Given the description of an element on the screen output the (x, y) to click on. 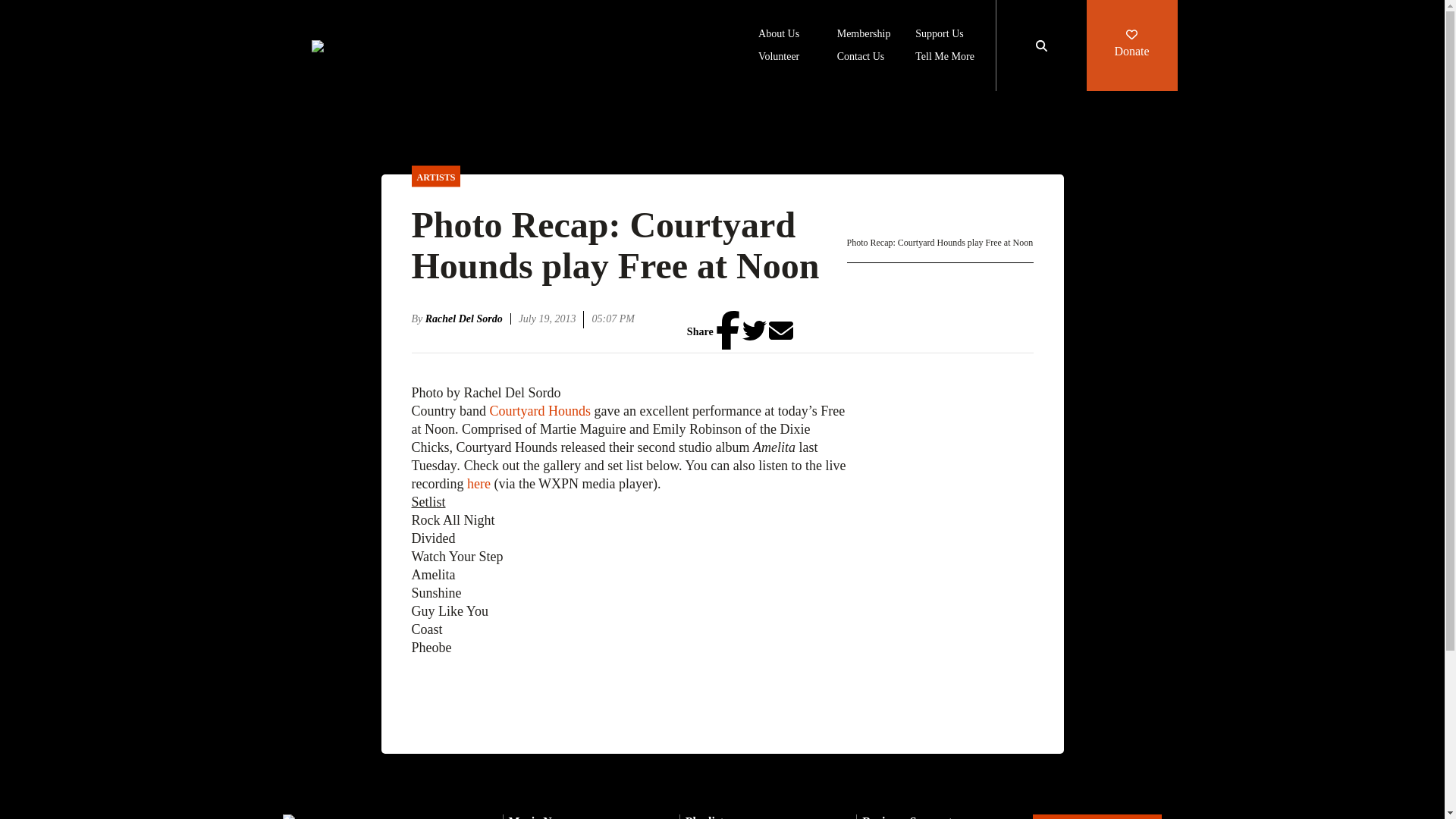
here (478, 483)
Contact Us (861, 57)
Donate (1131, 45)
Support Us (938, 35)
Courtyard Hounds (540, 410)
Playlists (707, 816)
About Us (778, 35)
Tell Me More (944, 57)
Volunteer (778, 57)
Membership (864, 35)
